Given the description of an element on the screen output the (x, y) to click on. 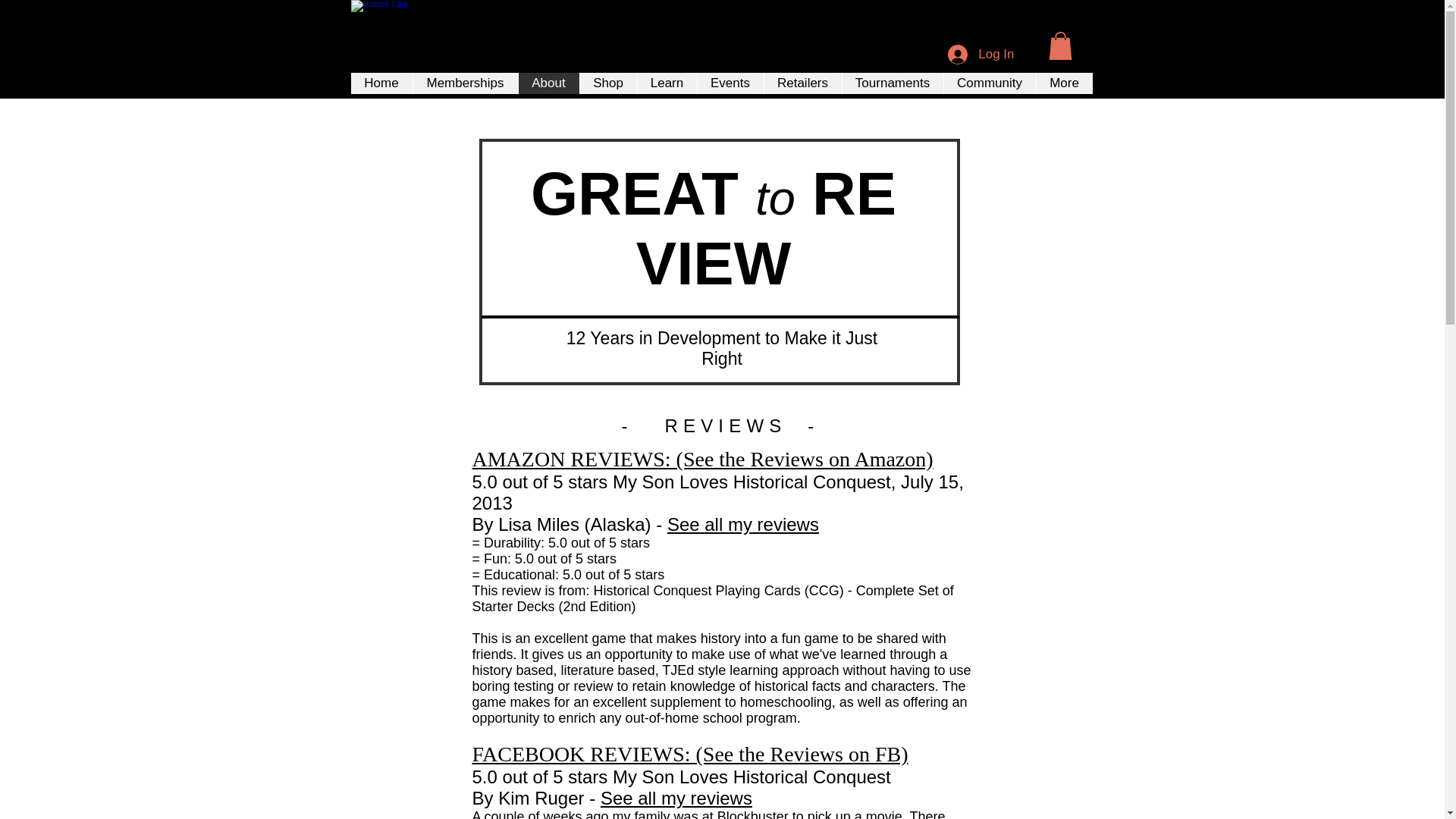
Events (728, 83)
About (547, 83)
Log In (981, 54)
Memberships (465, 83)
Learn (667, 83)
Home (381, 83)
Shop (608, 83)
